Given the description of an element on the screen output the (x, y) to click on. 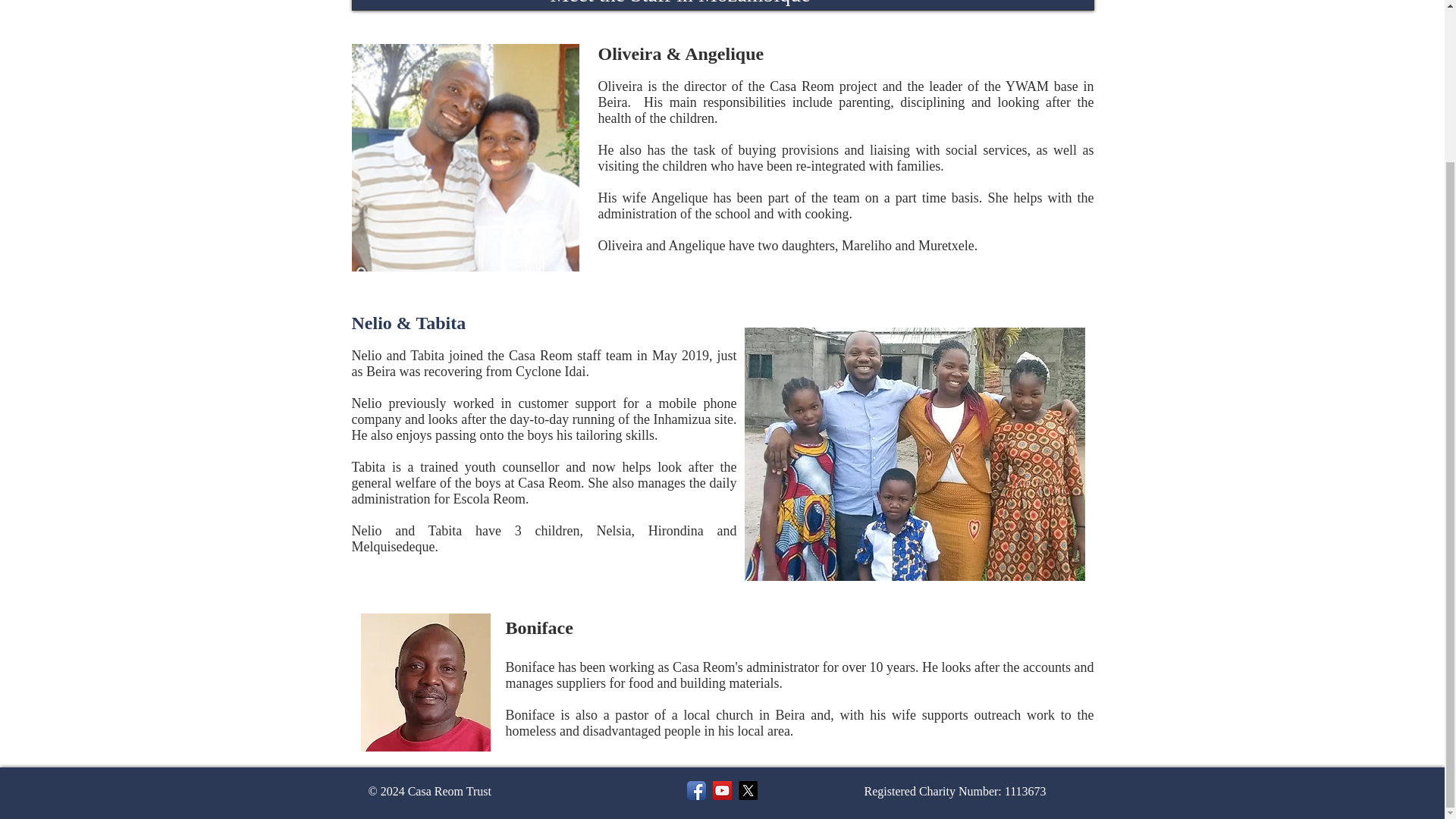
Oliveira.JPG (465, 157)
